Given the description of an element on the screen output the (x, y) to click on. 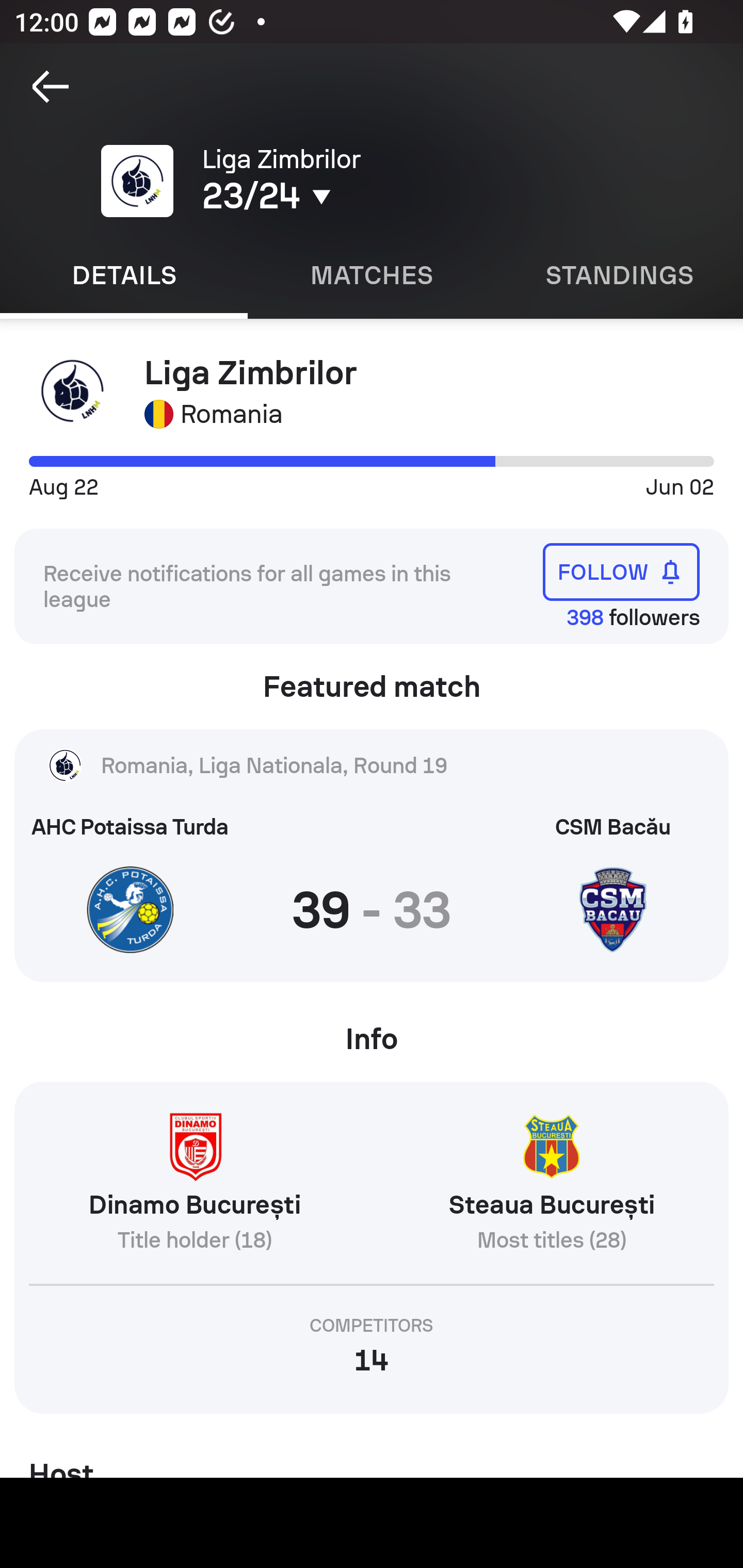
Navigate up (50, 86)
23/24 (350, 195)
Matches MATCHES (371, 275)
Standings STANDINGS (619, 275)
FOLLOW (621, 571)
Dinamo București Title holder (18) (194, 1190)
Steaua București Most titles (28) (551, 1190)
